Given the description of an element on the screen output the (x, y) to click on. 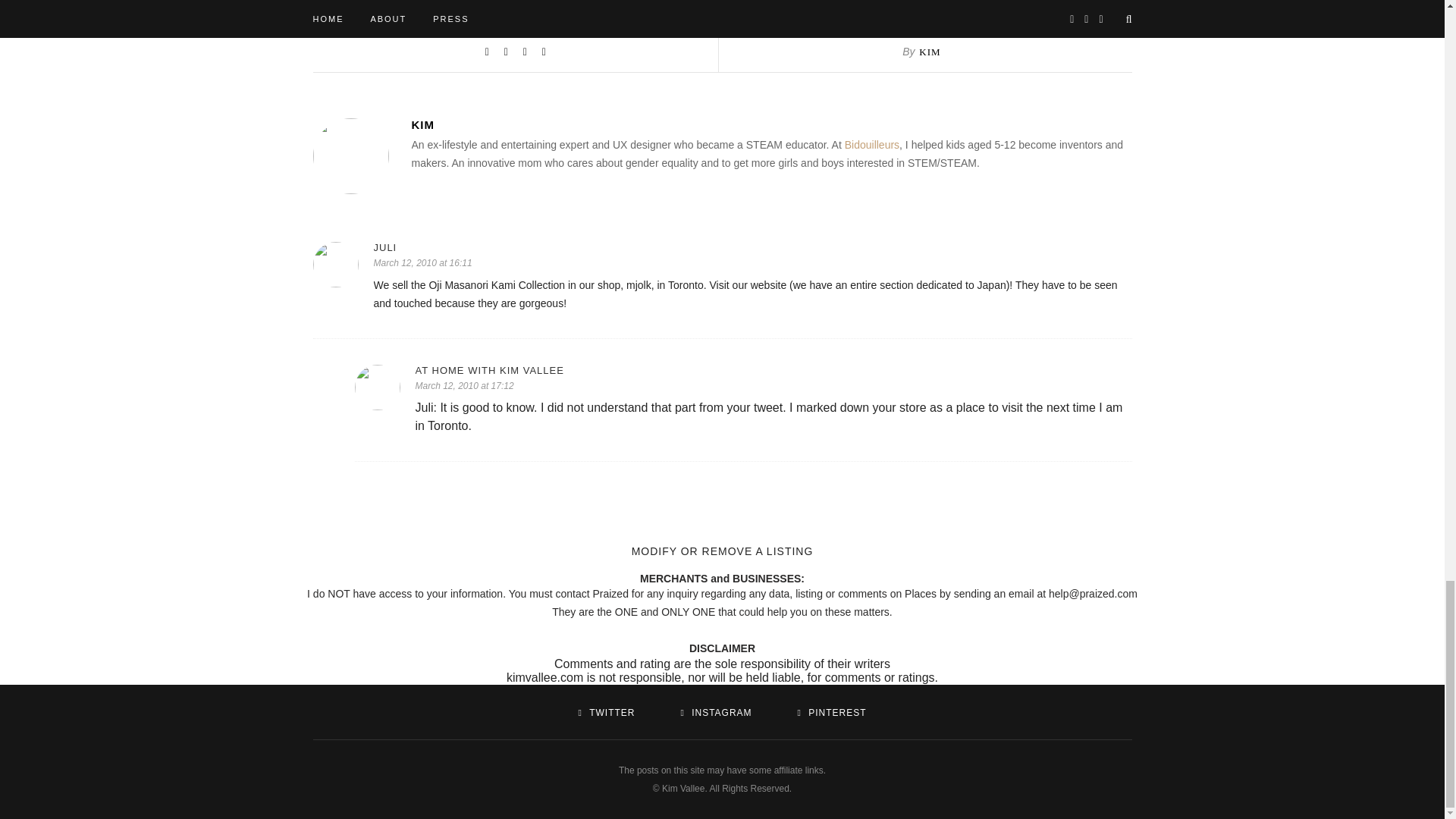
Posts by Kim (929, 51)
AT HOME WITH KIM VALLEE (773, 369)
TWITTER (606, 712)
INSTAGRAM (715, 712)
PINTEREST (831, 712)
JULI (751, 247)
KIM (929, 51)
Posts by Kim (770, 124)
KIM (770, 124)
Bidouilleurs (871, 144)
